Given the description of an element on the screen output the (x, y) to click on. 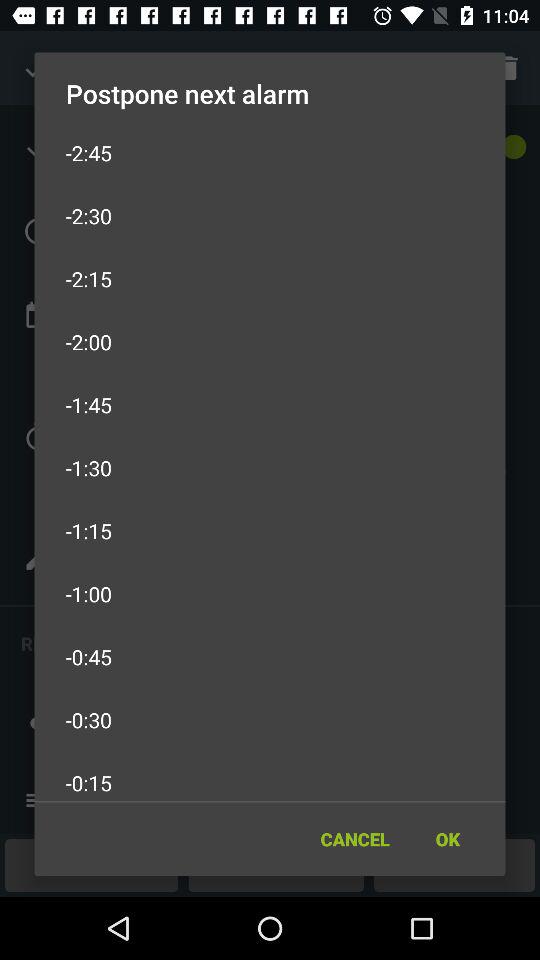
turn on icon next to the cancel icon (447, 838)
